Given the description of an element on the screen output the (x, y) to click on. 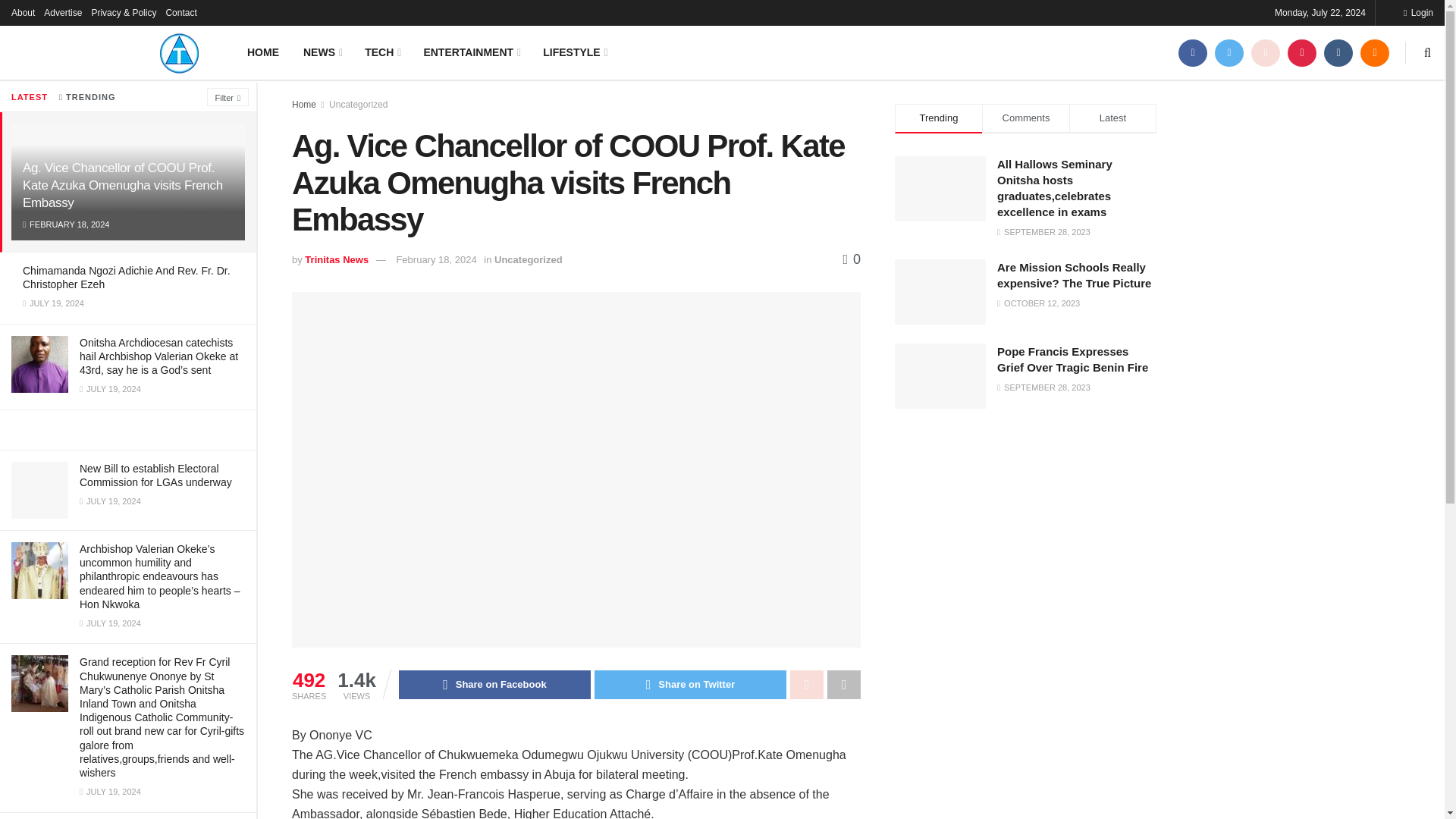
Advertise (62, 12)
Chimamanda Ngozi Adichie And Rev. Fr. Dr. Christopher Ezeh (126, 277)
About (22, 12)
New Bill to establish Electoral Commission for LGAs underway (155, 475)
Filter (227, 96)
